Given the description of an element on the screen output the (x, y) to click on. 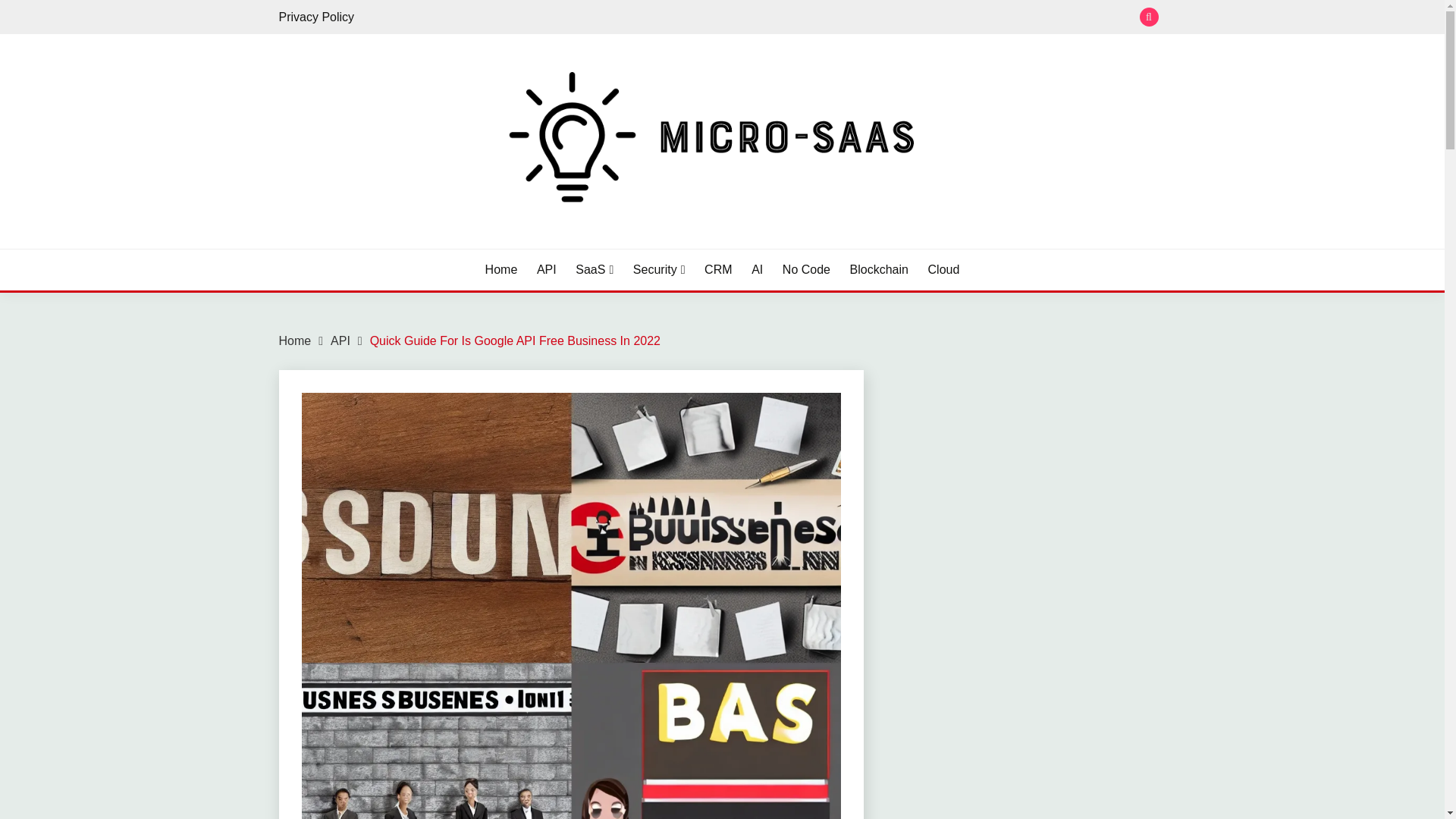
No Code (806, 270)
API (546, 270)
Security (659, 270)
MICRO-SAAS (368, 246)
Quick Guide For Is Google API Free Business In 2022 (515, 340)
Privacy Policy (317, 16)
API (340, 340)
CRM (718, 270)
SaaS (593, 270)
Home (501, 270)
Home (295, 340)
Search (832, 18)
Cloud (943, 270)
Blockchain (879, 270)
